Given the description of an element on the screen output the (x, y) to click on. 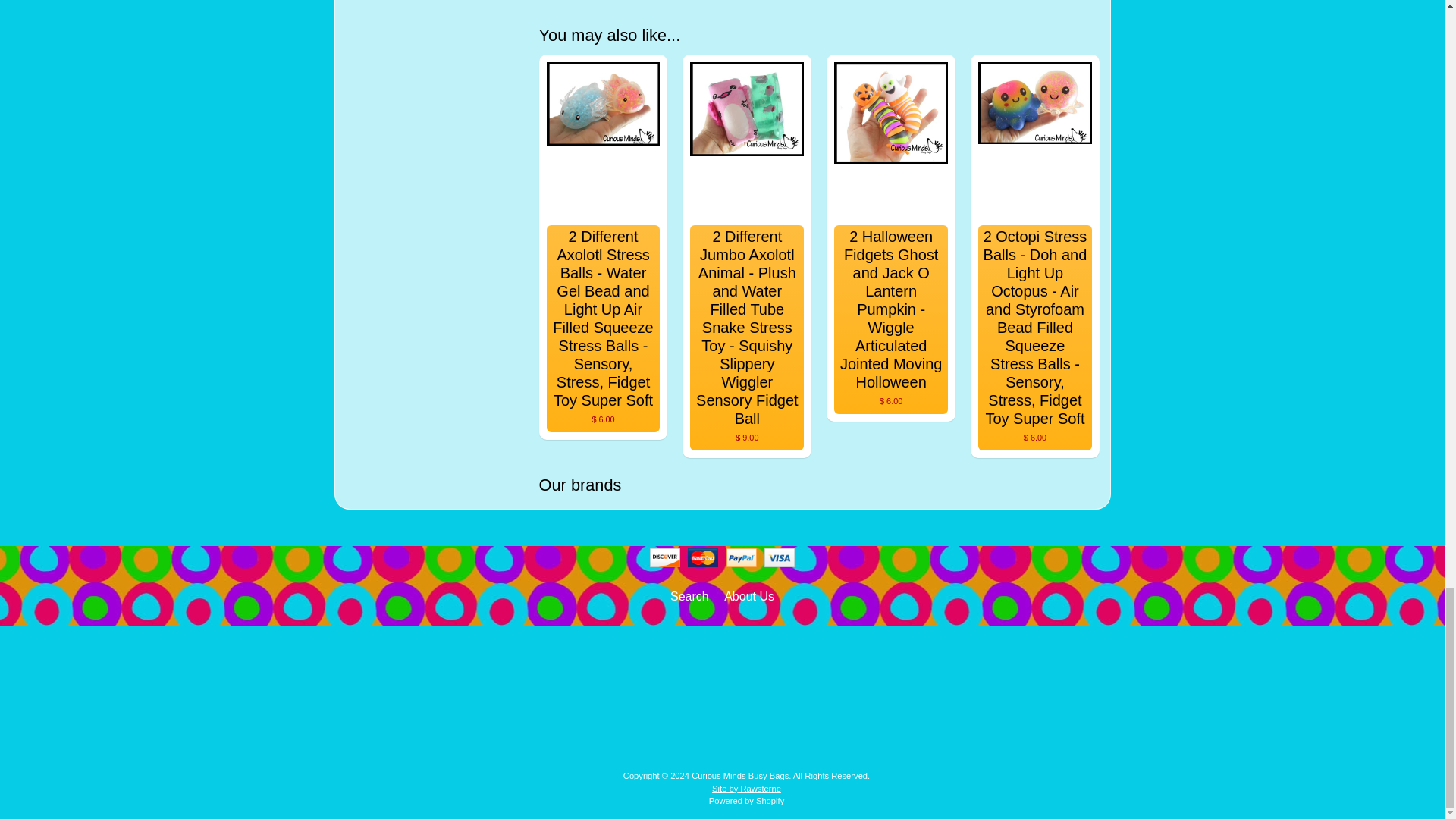
Our brands (818, 485)
Our brands (818, 485)
